Given the description of an element on the screen output the (x, y) to click on. 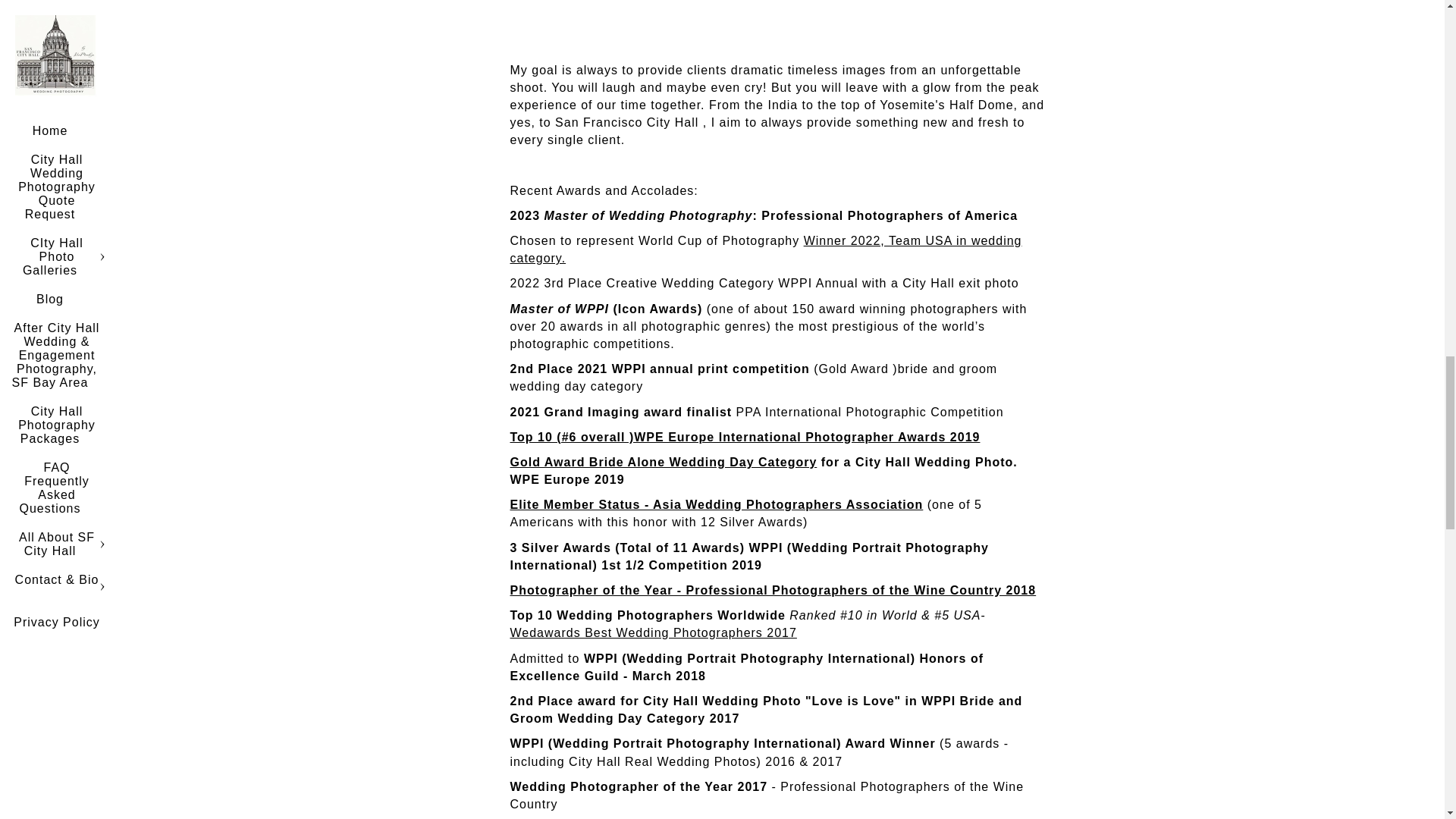
Gold Award Bride Alone Wedding Day Category (662, 461)
Elite Member Status - Asia Wedding Photographers Association (716, 504)
Winner 2022, Team USA in wedding category. (765, 249)
Wedawards Best Wedding Photographers 2017 (652, 632)
